Given the description of an element on the screen output the (x, y) to click on. 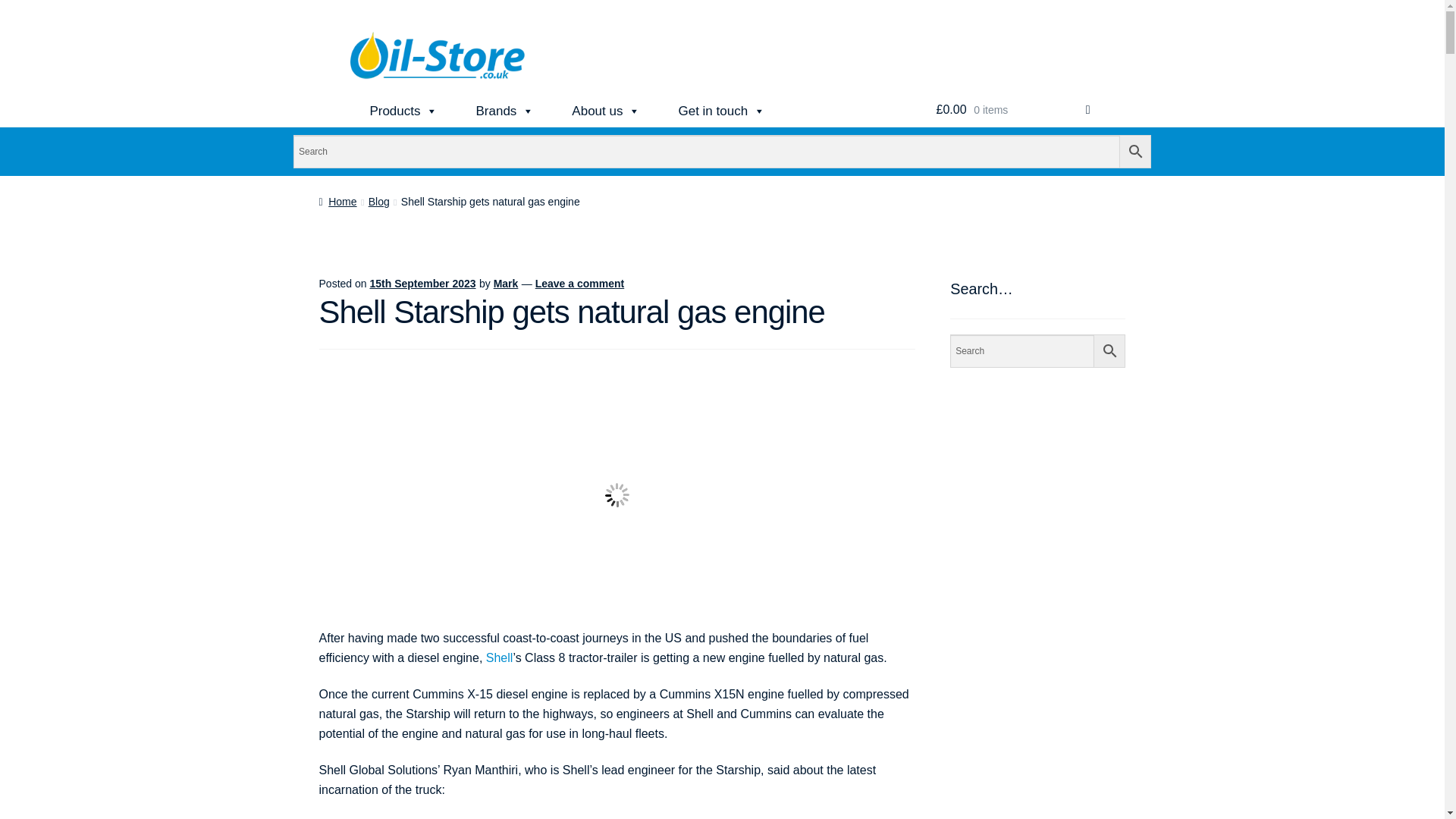
Shell Starship gets natural gas engine 1 (616, 495)
Shell (499, 657)
View your shopping basket (1013, 109)
Products (403, 111)
